Given the description of an element on the screen output the (x, y) to click on. 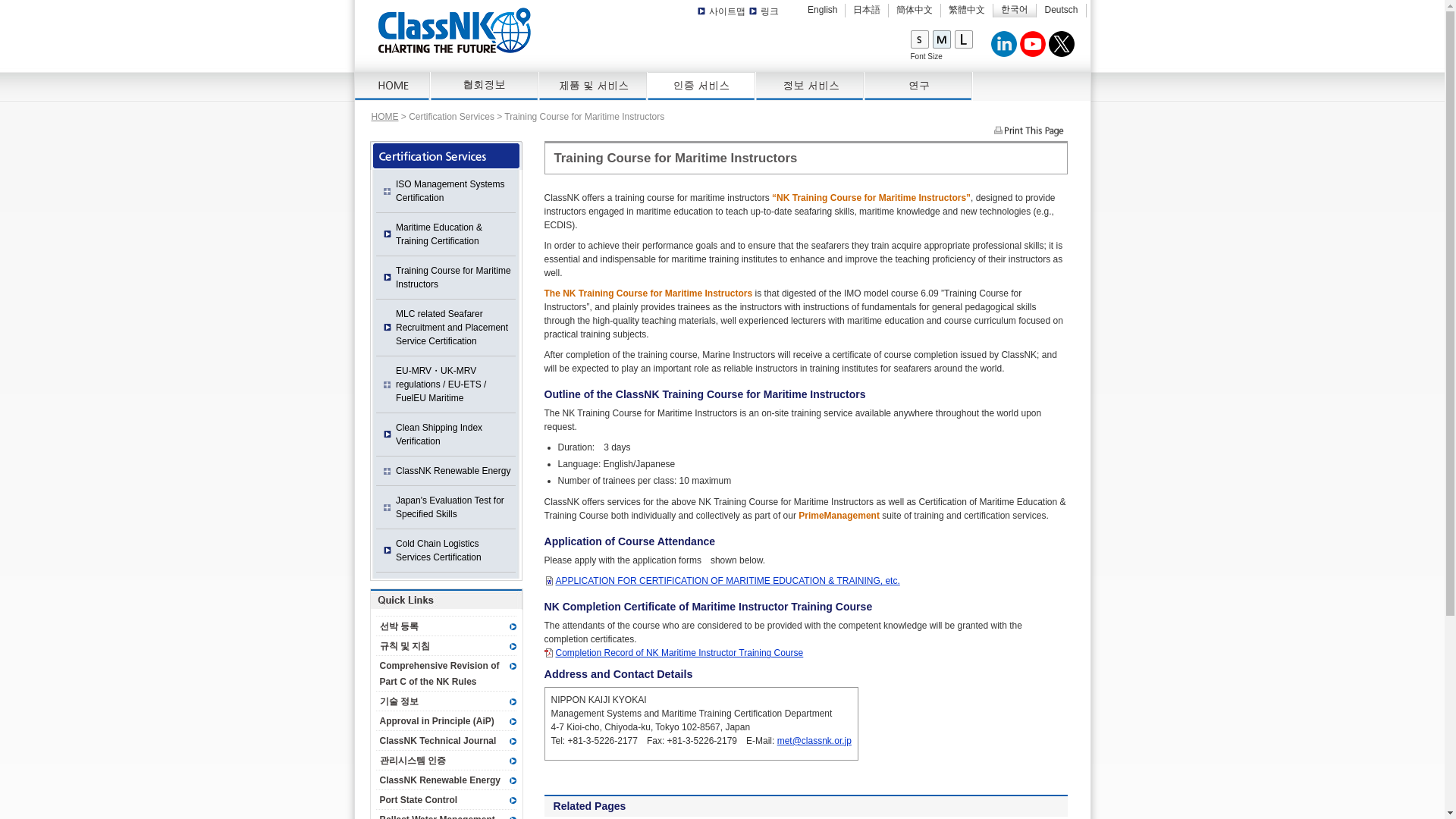
Youtube (1032, 43)
L (963, 40)
HOME (392, 86)
English (822, 9)
ClassNK (453, 30)
Deutsch (1060, 9)
M (943, 40)
S (920, 40)
X (1061, 43)
LinkedIn (1003, 43)
